Given the description of an element on the screen output the (x, y) to click on. 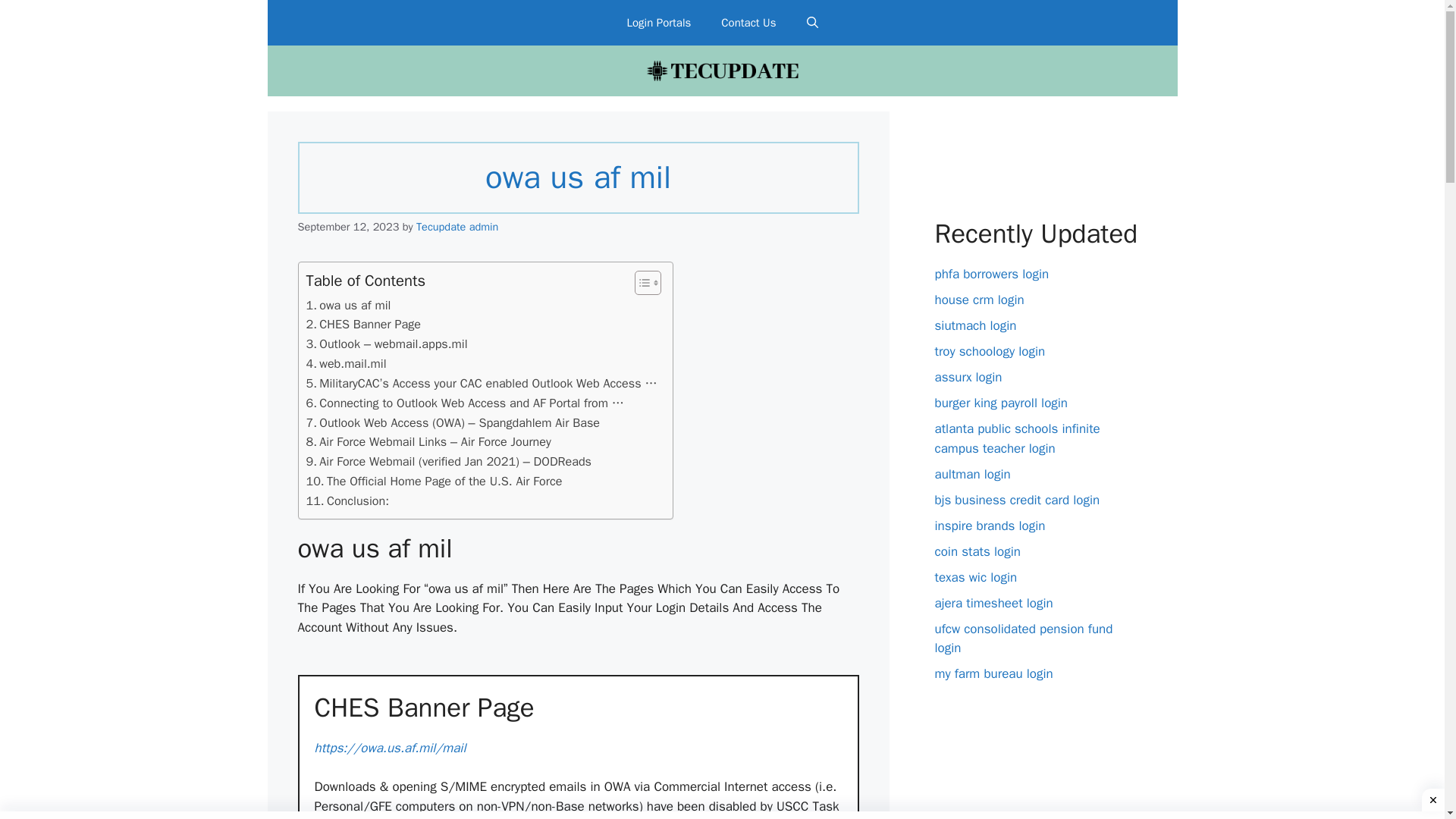
Conclusion: (347, 501)
owa us af mil (348, 305)
View all posts by Tecupdate admin (456, 226)
Conclusion: (347, 501)
Login Portals (658, 22)
owa us af mil (348, 305)
web.mail.mil (346, 363)
web.mail.mil (346, 363)
CHES Banner Page (363, 324)
The Official Home Page of the U.S. Air Force (433, 481)
The Official Home Page of the U.S. Air Force (433, 481)
Contact Us (748, 22)
Tecupdate admin (456, 226)
CHES Banner Page (363, 324)
CHES Banner Page (577, 707)
